Given the description of an element on the screen output the (x, y) to click on. 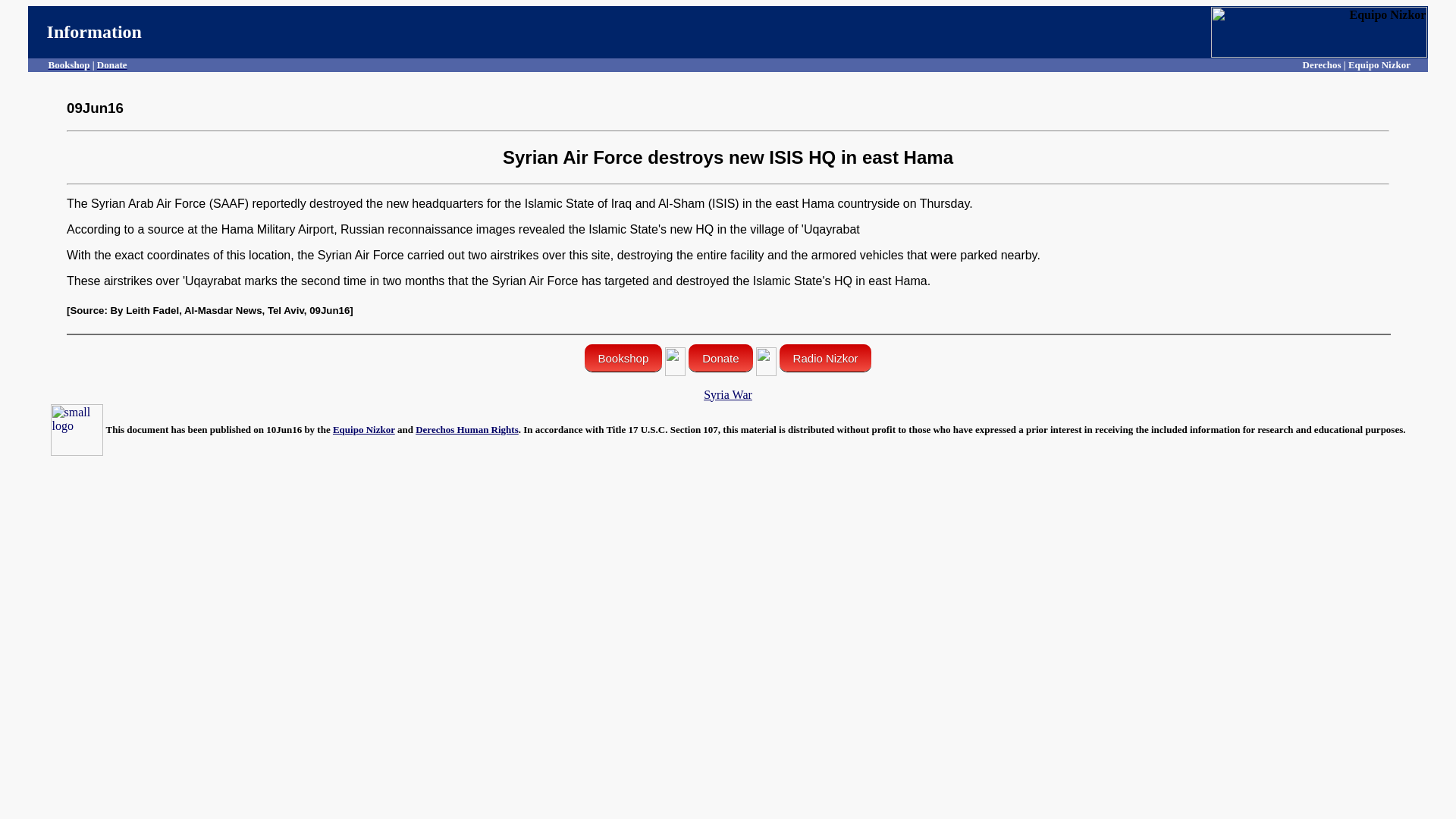
Radio Nizkor (825, 357)
Equipo Nizkor (363, 429)
Bookshop (623, 357)
Derechos Human Rights (466, 429)
Donate (720, 357)
Bookshop (69, 64)
Donate (112, 64)
Syria War (727, 394)
